Given the description of an element on the screen output the (x, y) to click on. 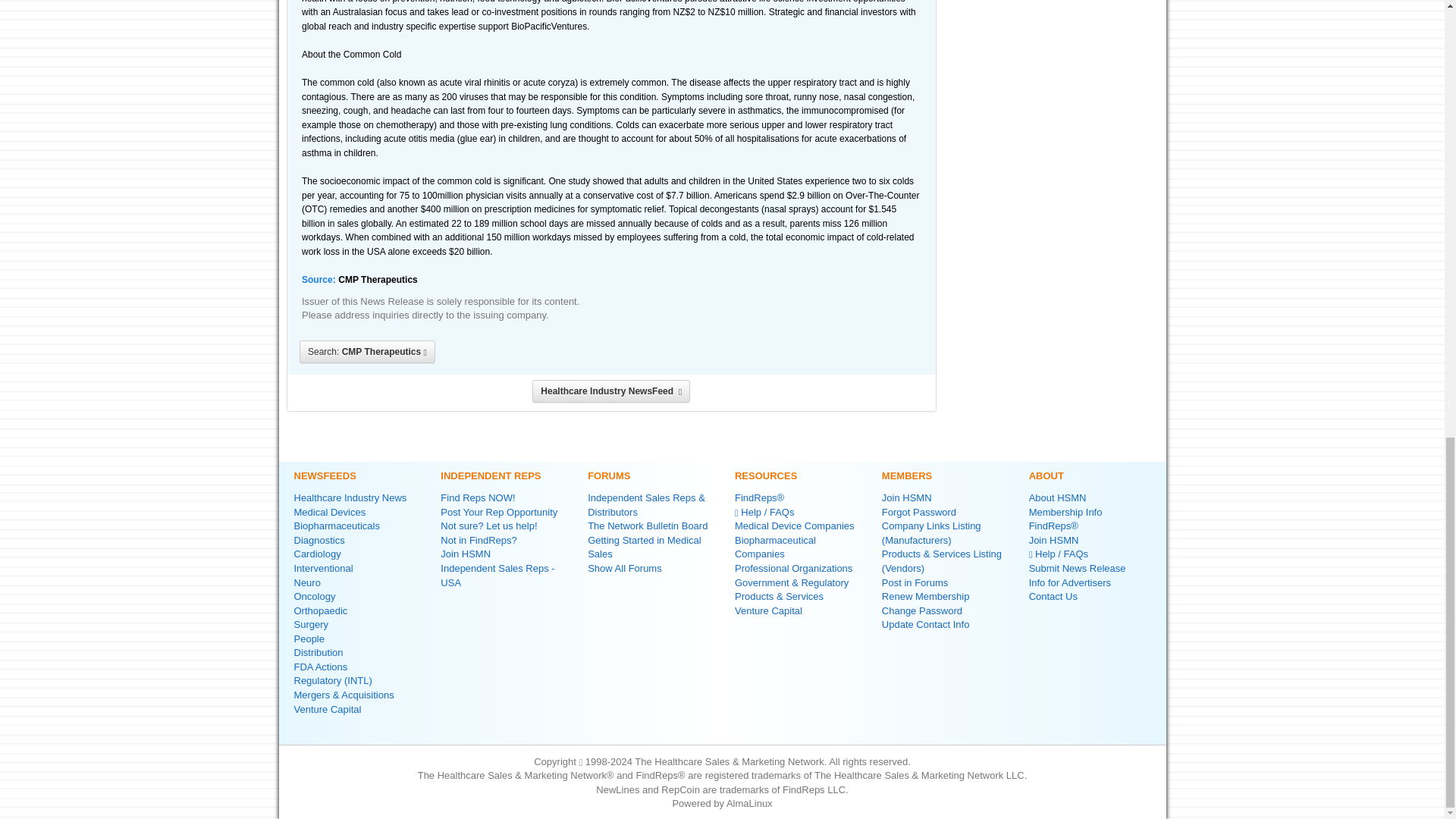
Advertisement (1054, 22)
